Given the description of an element on the screen output the (x, y) to click on. 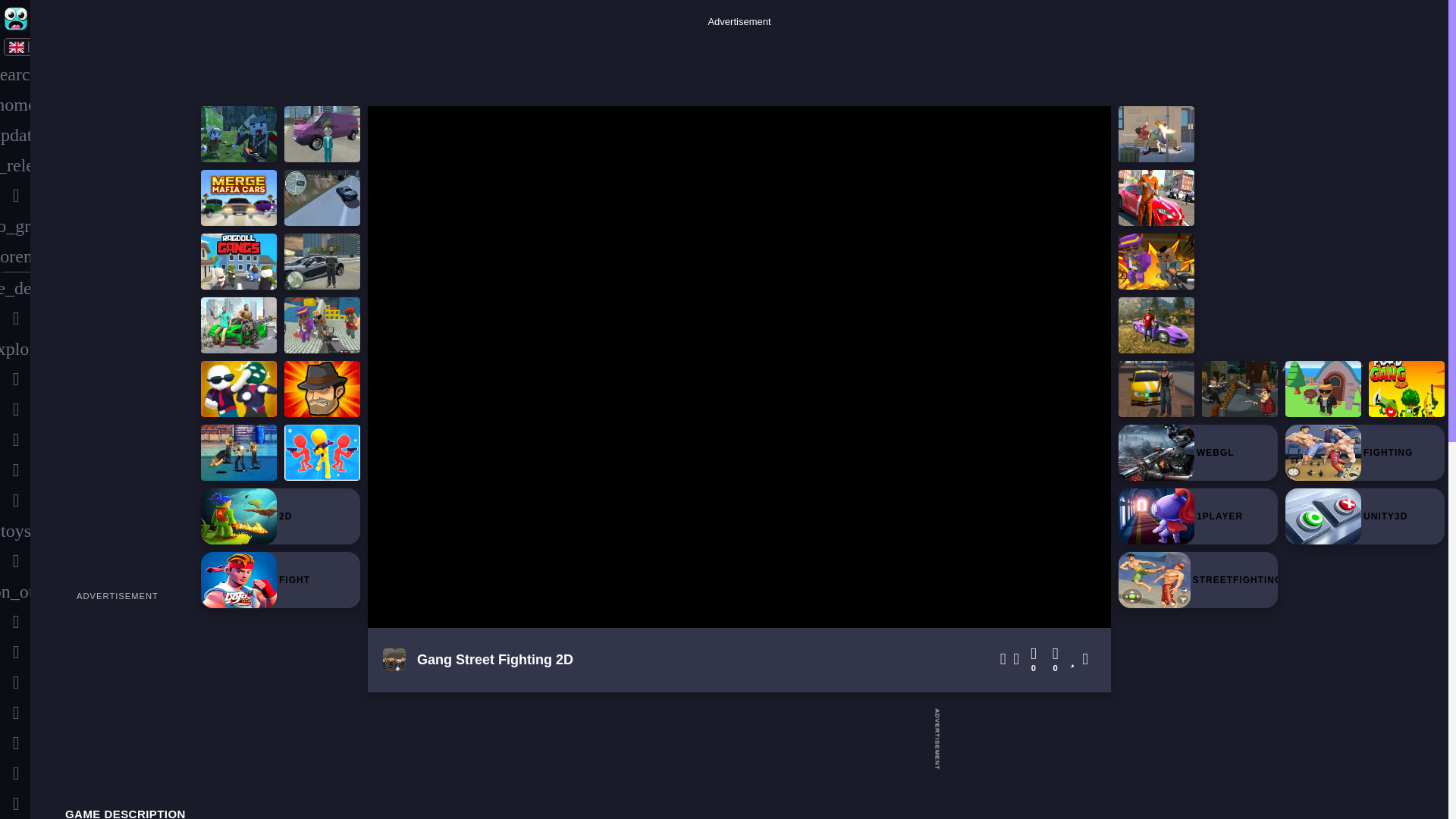
autorenew (15, 256)
Advertisement (738, 63)
explore (15, 348)
search (15, 73)
home (15, 104)
toys (15, 530)
update (15, 134)
